Given the description of an element on the screen output the (x, y) to click on. 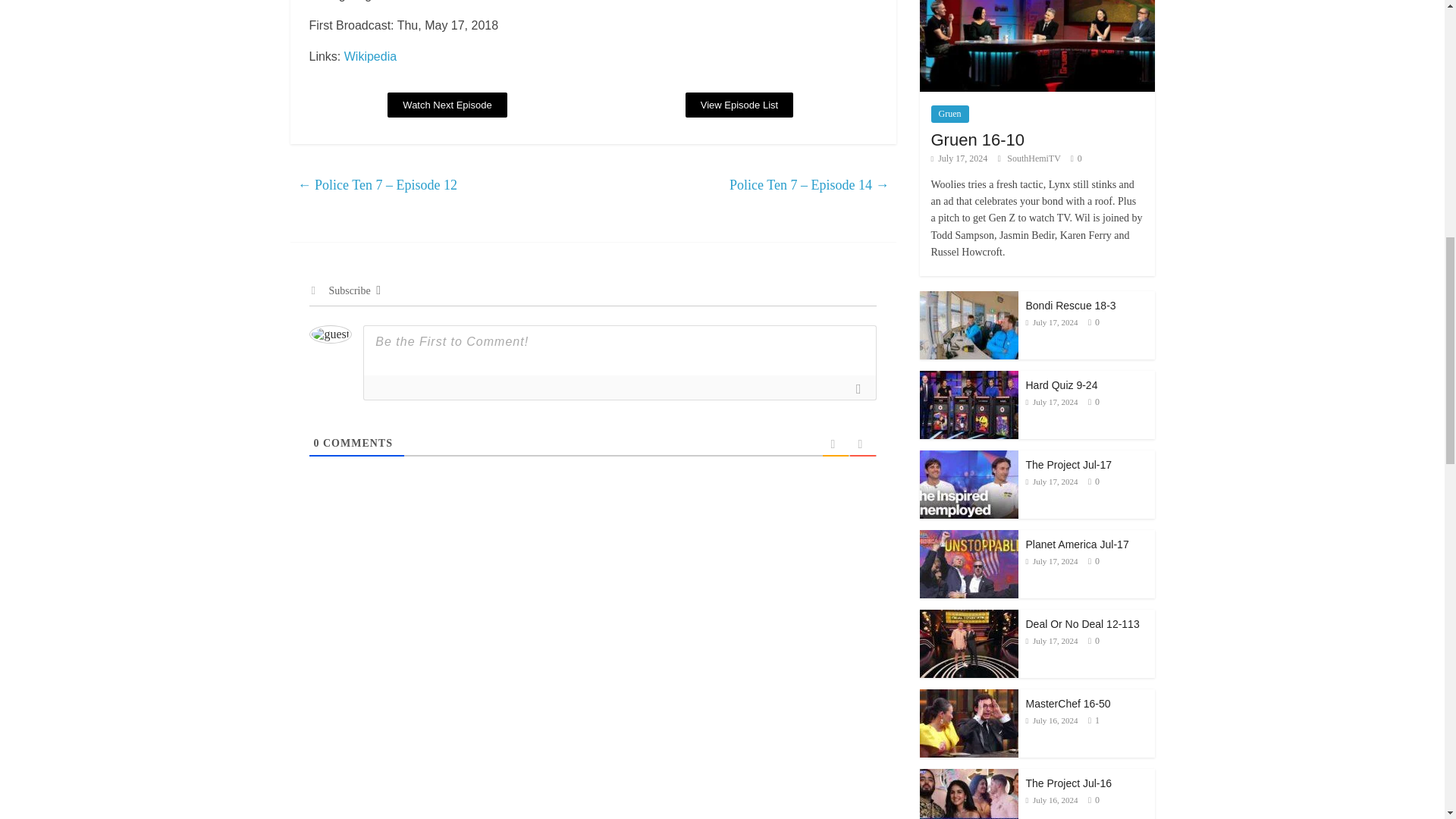
View Episode List (739, 104)
Watch Next Episode (446, 104)
Gruen (950, 113)
Wikipedia (369, 56)
